Given the description of an element on the screen output the (x, y) to click on. 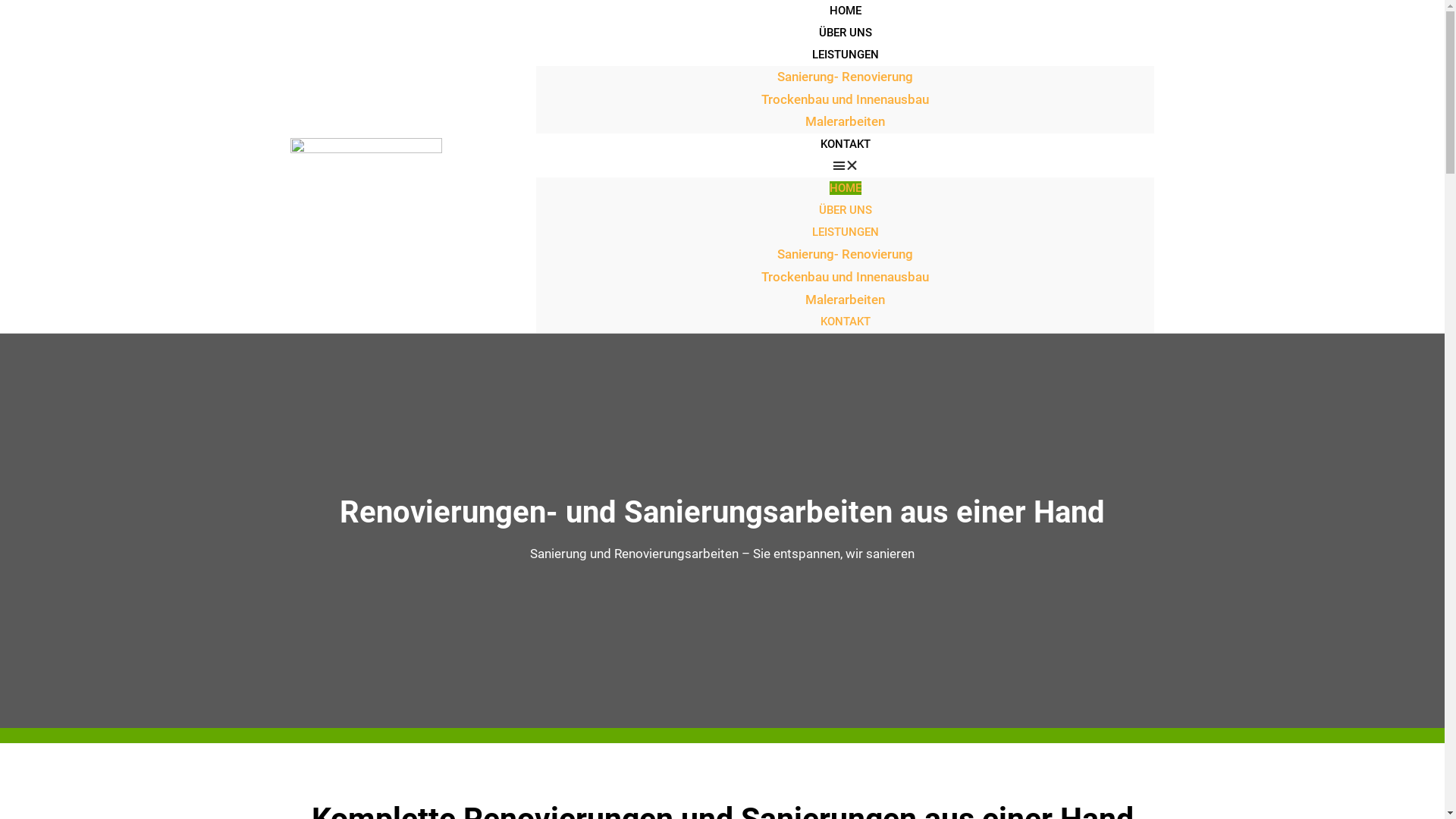
KONTAKT Element type: text (845, 321)
Malerarbeiten Element type: text (844, 120)
LEISTUNGEN Element type: text (845, 231)
LEISTUNGEN Element type: text (845, 54)
Malerarbeiten Element type: text (844, 299)
Trockenbau und Innenausbau Element type: text (844, 98)
Sanierung- Renovierung Element type: text (845, 76)
HOME Element type: text (845, 187)
Trockenbau und Innenausbau Element type: text (844, 276)
Sanierung- Renovierung Element type: text (845, 253)
KONTAKT Element type: text (845, 143)
